Given the description of an element on the screen output the (x, y) to click on. 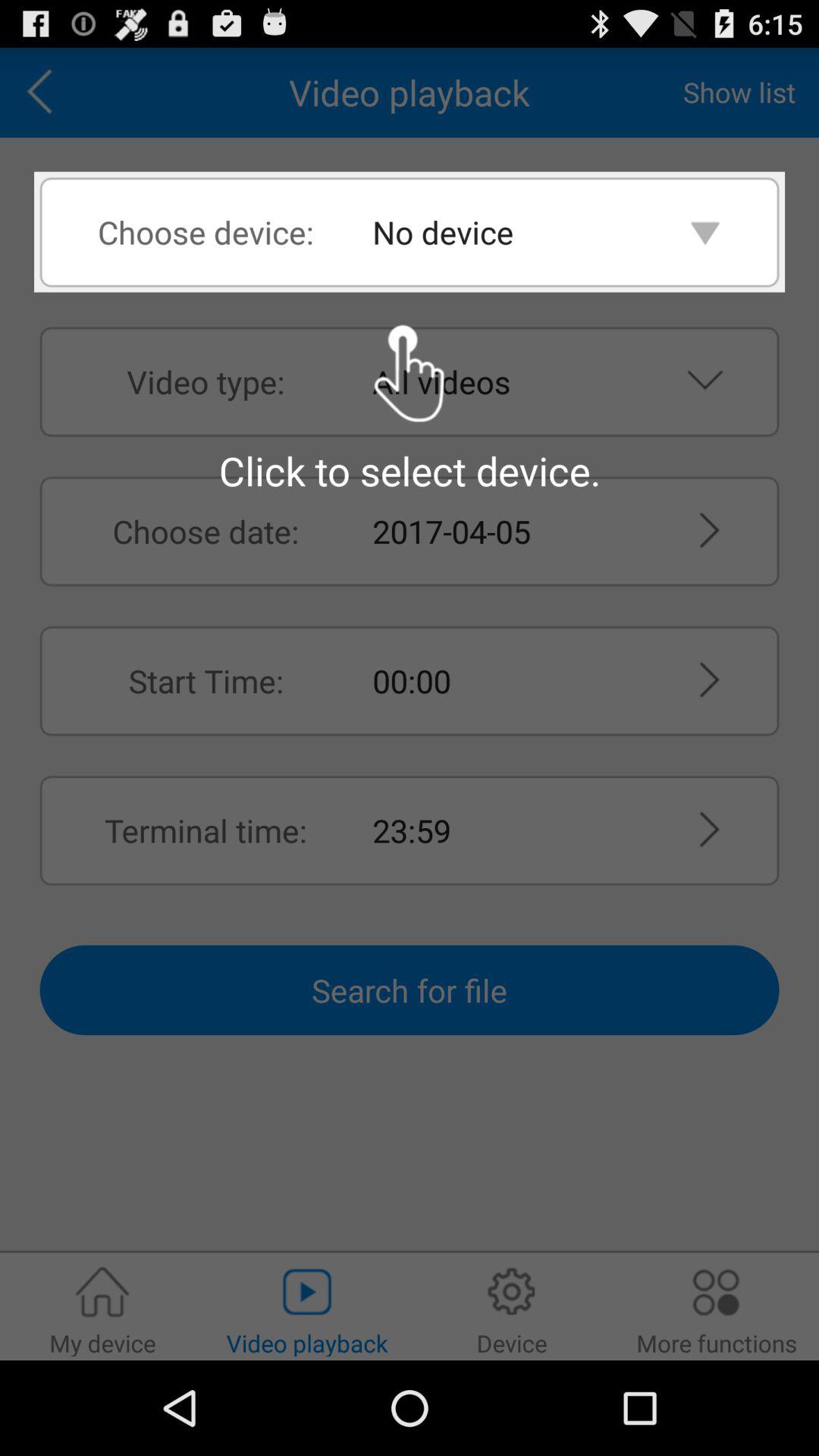
turn on the app to the right of video playback app (739, 92)
